Given the description of an element on the screen output the (x, y) to click on. 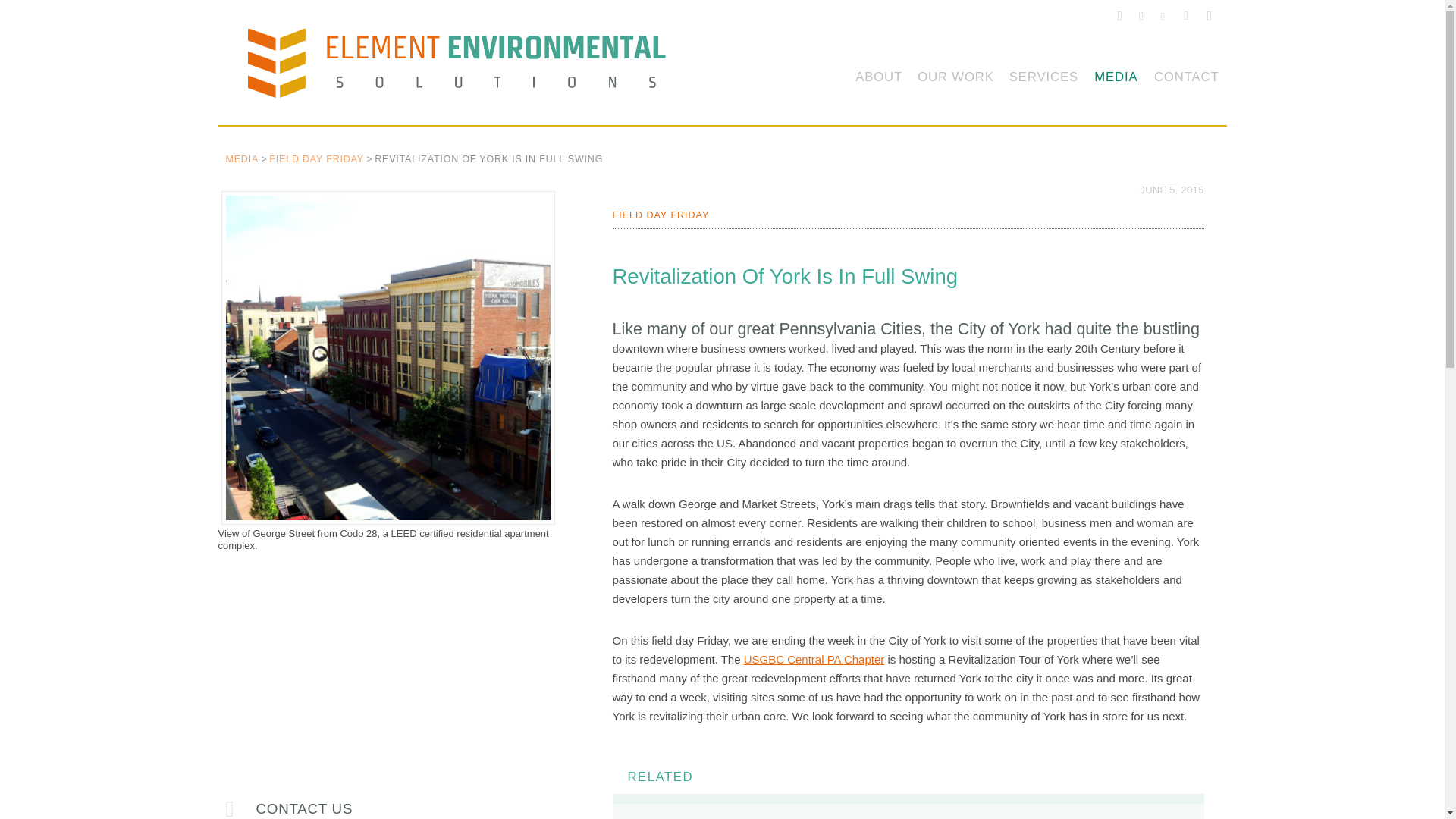
Follow Enviromental Solutions on Twitter (1119, 18)
CONTACT (1187, 79)
SERVICES (1043, 79)
MEDIA (242, 158)
FIELD DAY FRIDAY (661, 215)
View all posts in Field Day Friday (661, 215)
Environmental Consultants (469, 70)
FIELD DAY FRIDAY (316, 158)
Go to the Field Day Friday category archives. (316, 158)
Go to Media. (242, 158)
Follow Enviromental Solutions RSS Feed (1208, 18)
USGBC Central PA Chapter (814, 658)
OUR WORK (955, 79)
